Given the description of an element on the screen output the (x, y) to click on. 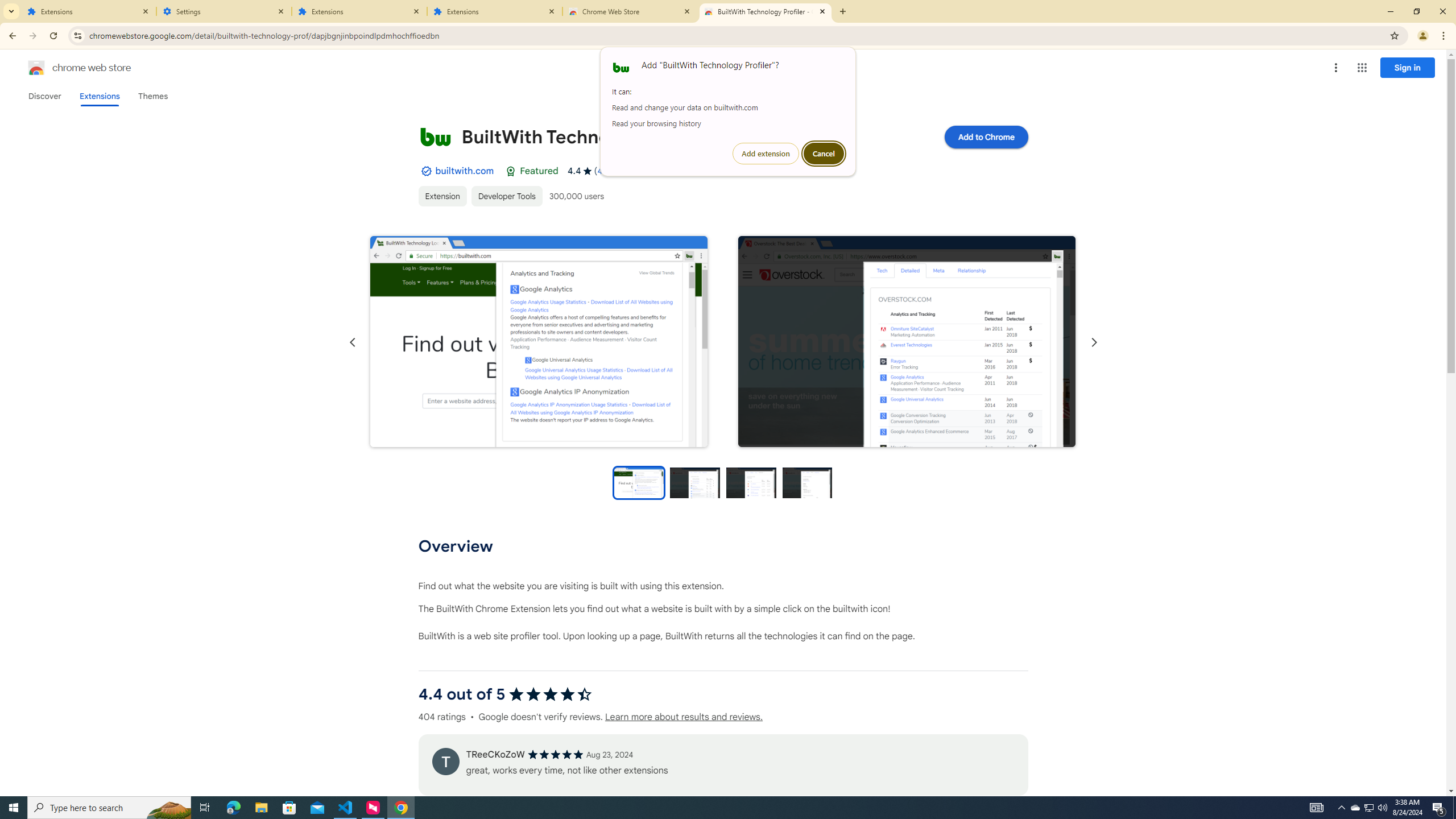
Preview slide 1 (637, 482)
Preview slide 2 (694, 482)
Running applications (1355, 807)
Chrome Web Store logo (717, 807)
Extension (36, 67)
Extensions (442, 195)
builtwith.com (359, 11)
Notification Chevron (464, 170)
Item media 1 screenshot (1341, 807)
Previous slide (538, 341)
